Given the description of an element on the screen output the (x, y) to click on. 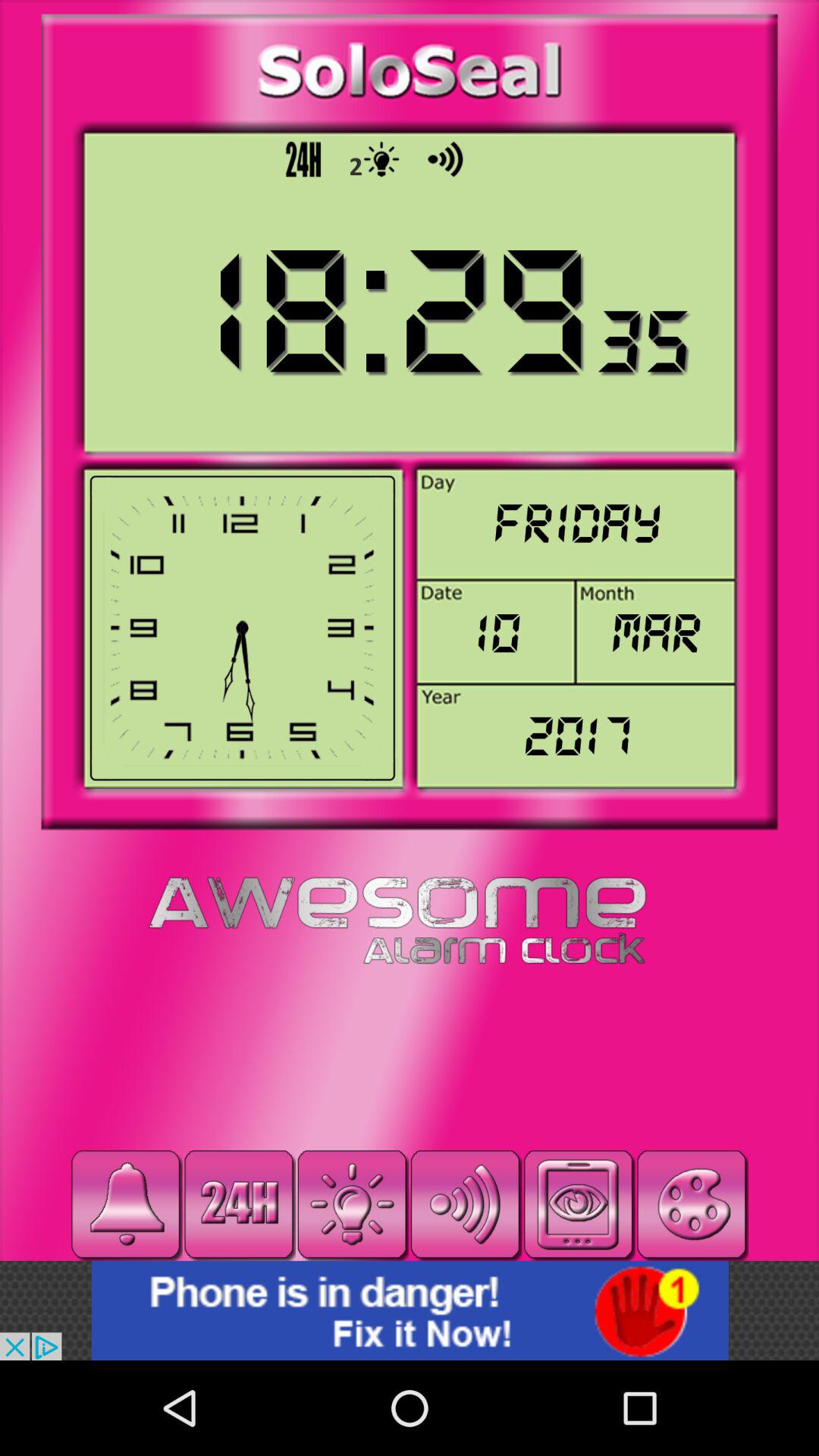
click the reading mode (578, 1203)
